Given the description of an element on the screen output the (x, y) to click on. 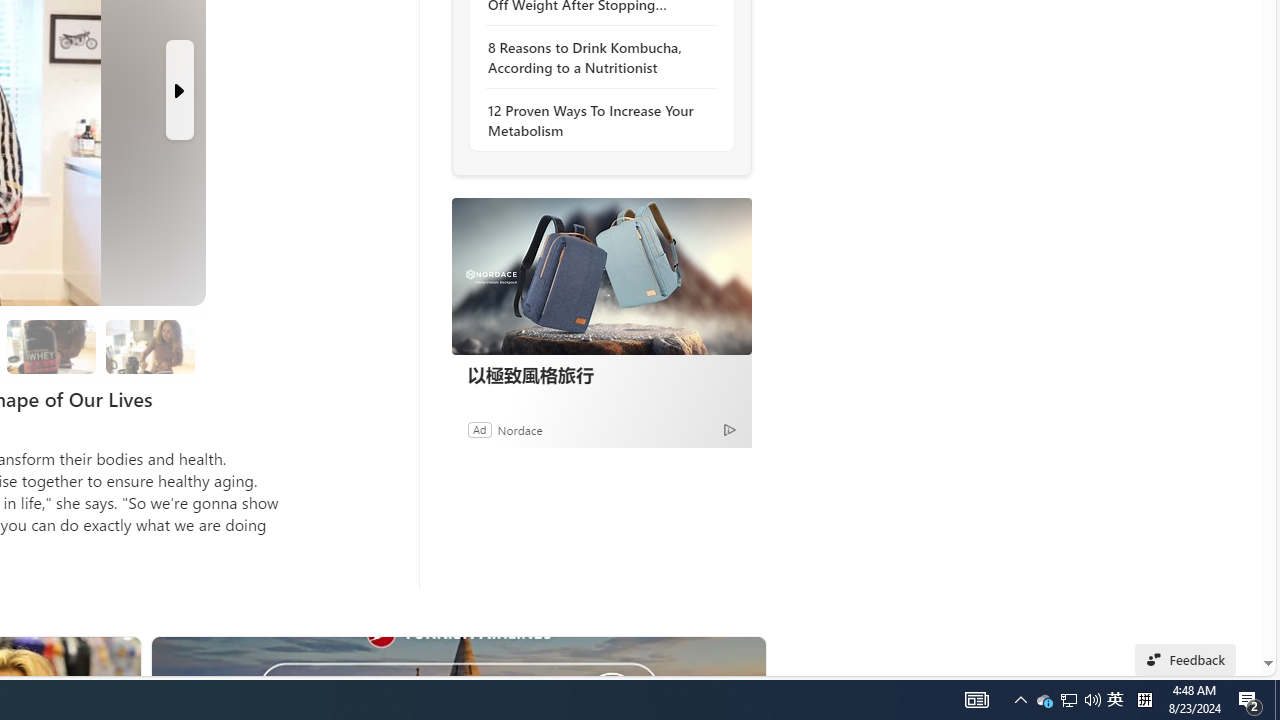
6 Since Eating More Protein Her Training Has Improved (51, 346)
7 They Don't Skip Meals (150, 346)
Next Slide (179, 89)
7 They Don't Skip Meals (149, 346)
8 Reasons to Drink Kombucha, According to a Nutritionist (596, 57)
Class: progress (149, 343)
12 Proven Ways To Increase Your Metabolism (596, 120)
